Given the description of an element on the screen output the (x, y) to click on. 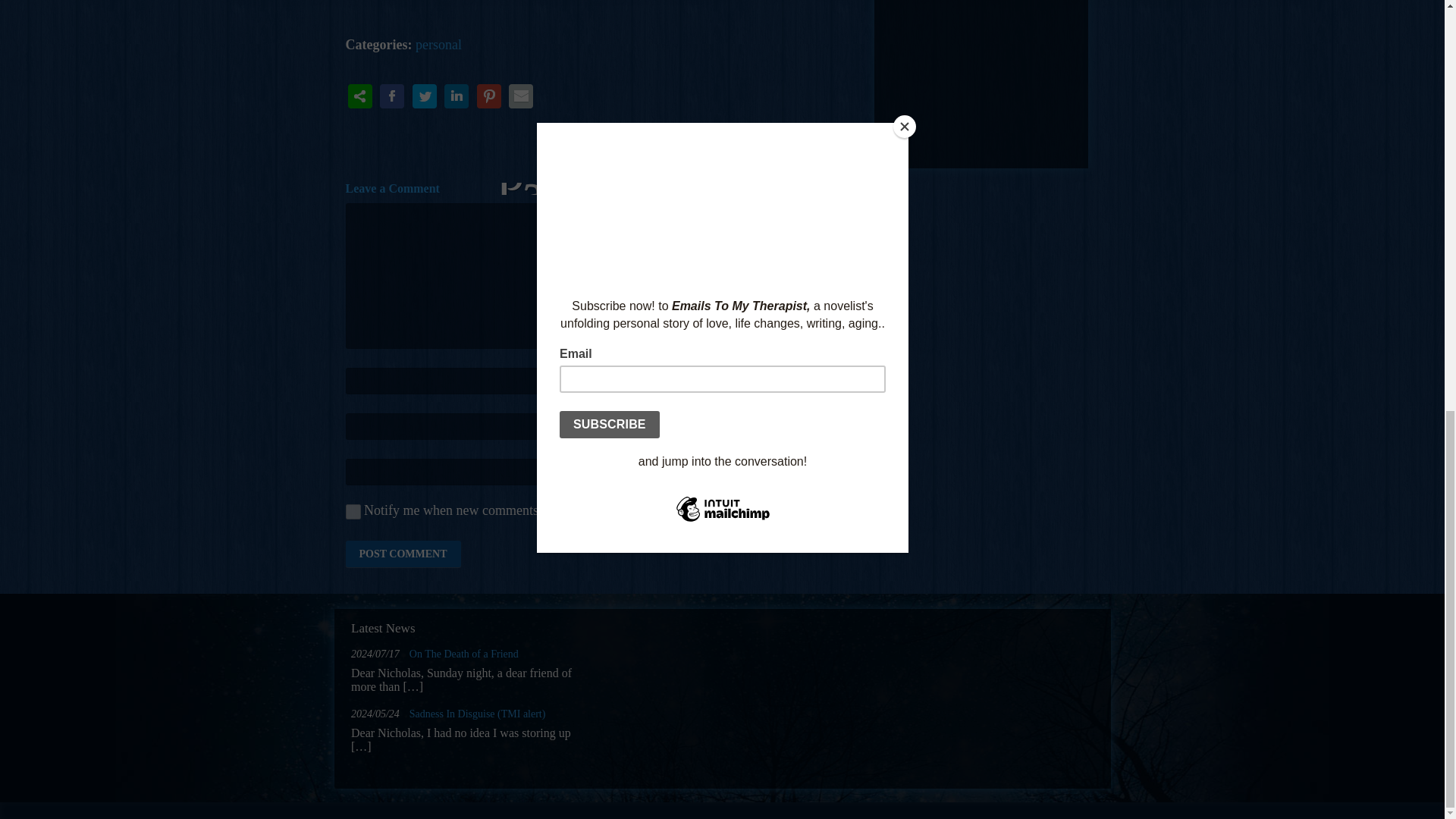
1 (353, 511)
Post Comment (403, 553)
personal (437, 44)
On The Death of a Friend (463, 654)
Post Comment (403, 553)
